Given the description of an element on the screen output the (x, y) to click on. 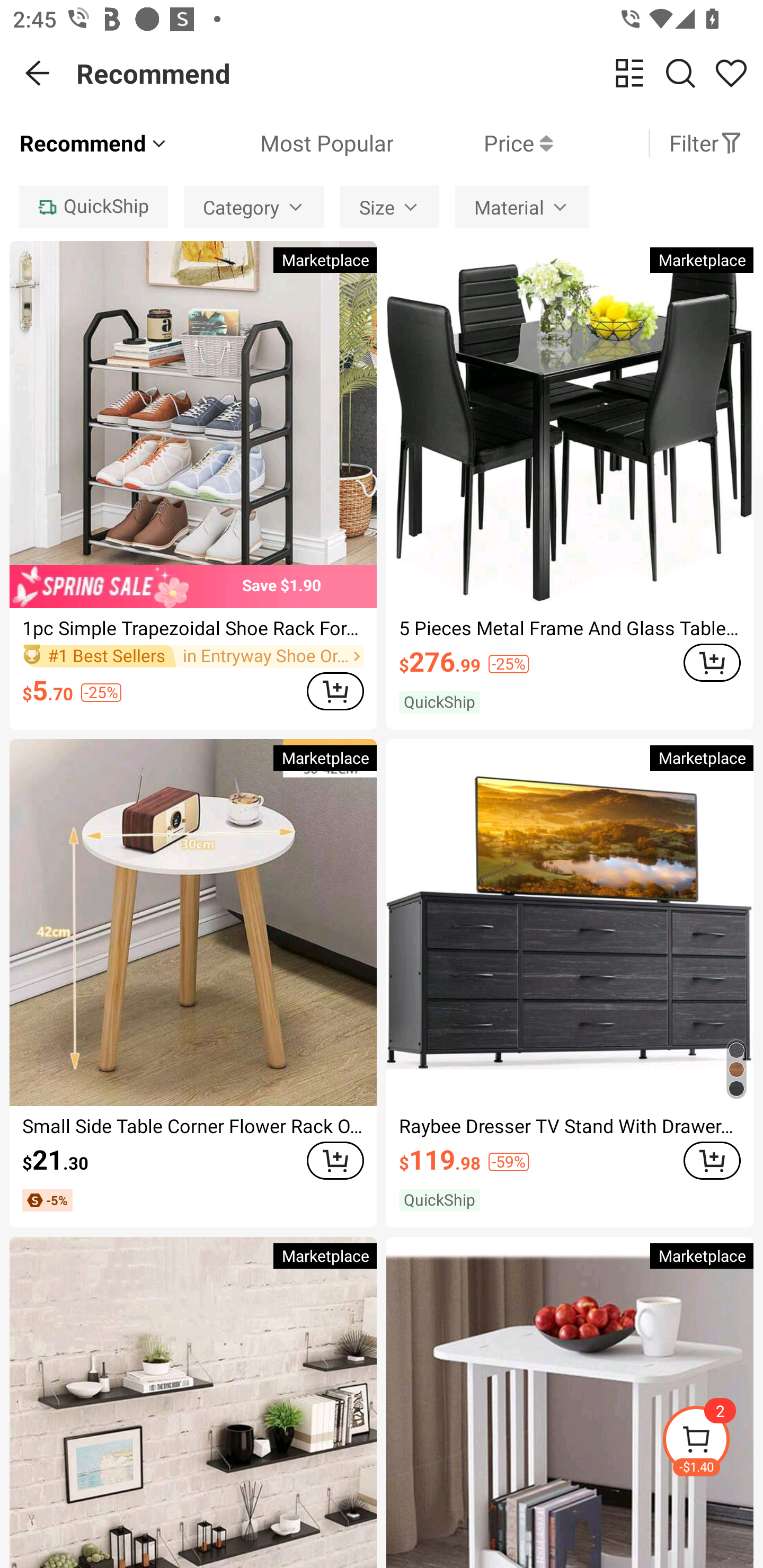
Recommend change view Search Share (419, 72)
change view (629, 72)
Search (679, 72)
Share (730, 72)
Recommend (94, 143)
Most Popular (280, 143)
Price (472, 143)
Filter (705, 143)
QuickShip (93, 206)
Category (253, 206)
Size (389, 206)
Material (522, 206)
#1 Best Sellers in Entryway Shoe Organizers (192, 655)
ADD TO CART (711, 662)
ADD TO CART (334, 691)
ADD TO CART (334, 1160)
ADD TO CART (711, 1160)
-$1.40 (712, 1441)
